Given the description of an element on the screen output the (x, y) to click on. 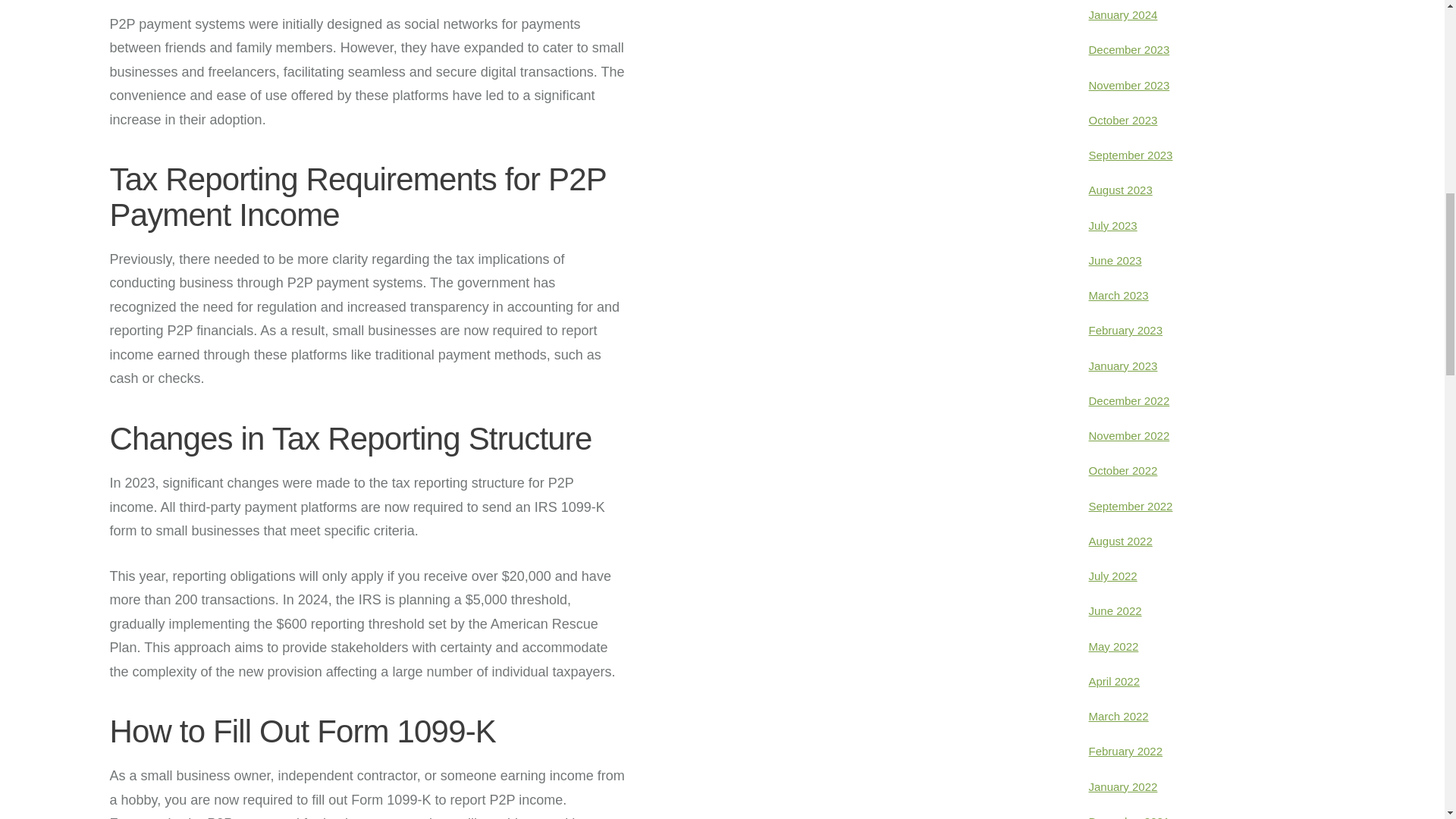
November 2023 (1129, 84)
January 2024 (1123, 14)
October 2023 (1123, 119)
August 2023 (1121, 189)
December 2023 (1129, 49)
September 2023 (1131, 154)
July 2023 (1113, 225)
